Given the description of an element on the screen output the (x, y) to click on. 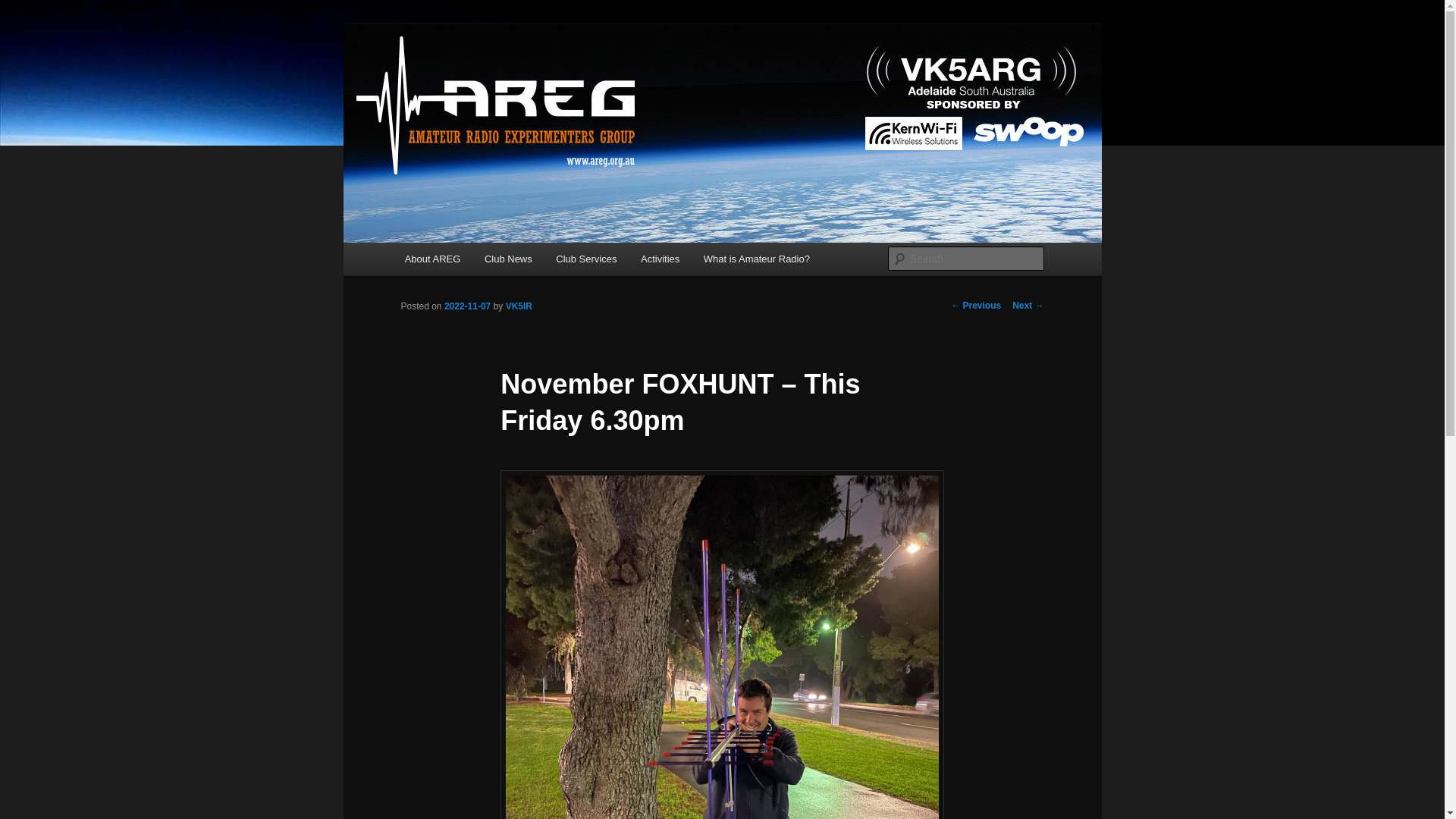
Club News (507, 258)
Activities (659, 258)
View all posts by VK5IR (518, 306)
AREG (432, 78)
Club Services (586, 258)
About AREG (432, 258)
19:26 (467, 306)
Search (24, 8)
